Given the description of an element on the screen output the (x, y) to click on. 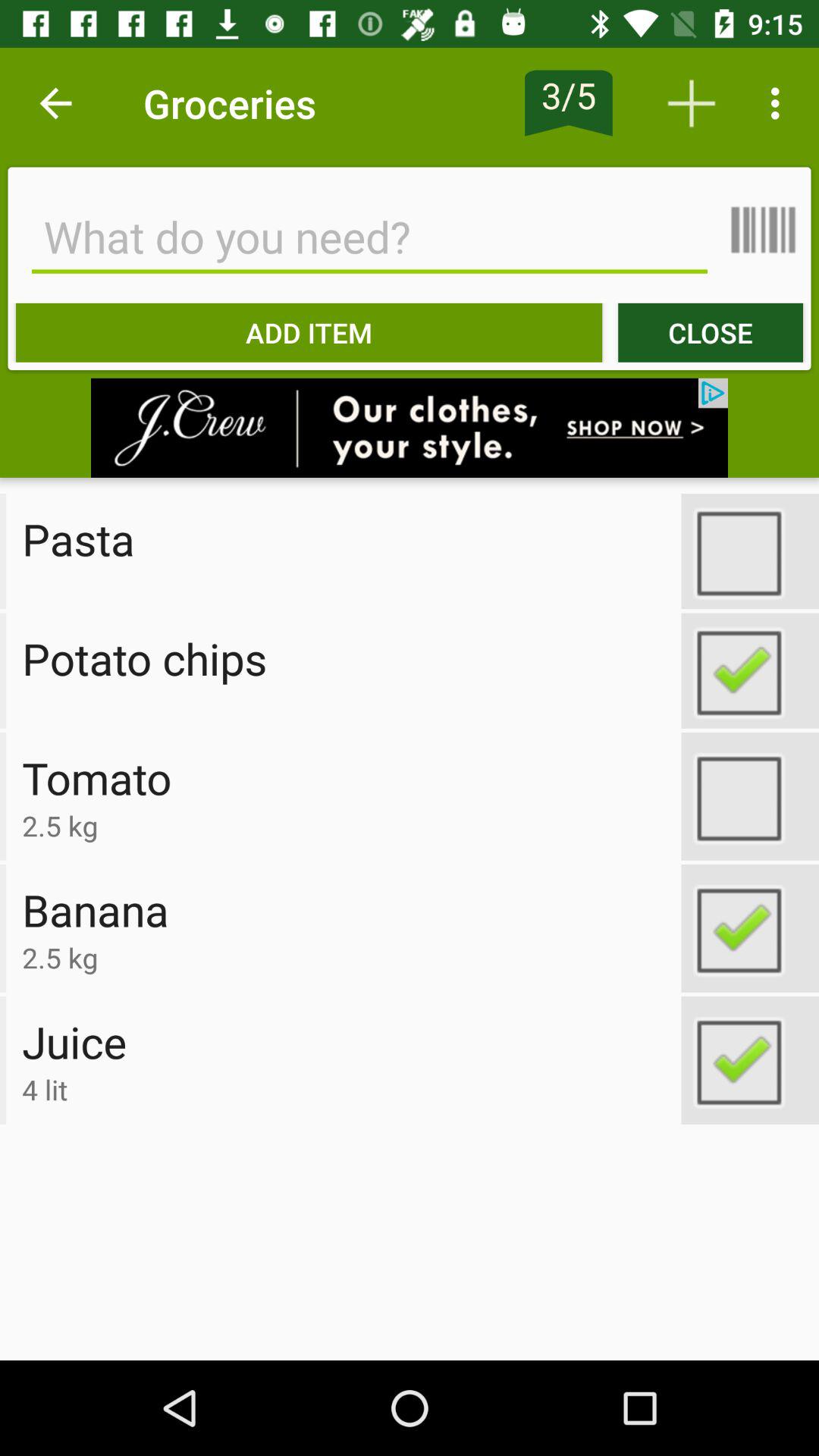
go to tick option (750, 670)
